Given the description of an element on the screen output the (x, y) to click on. 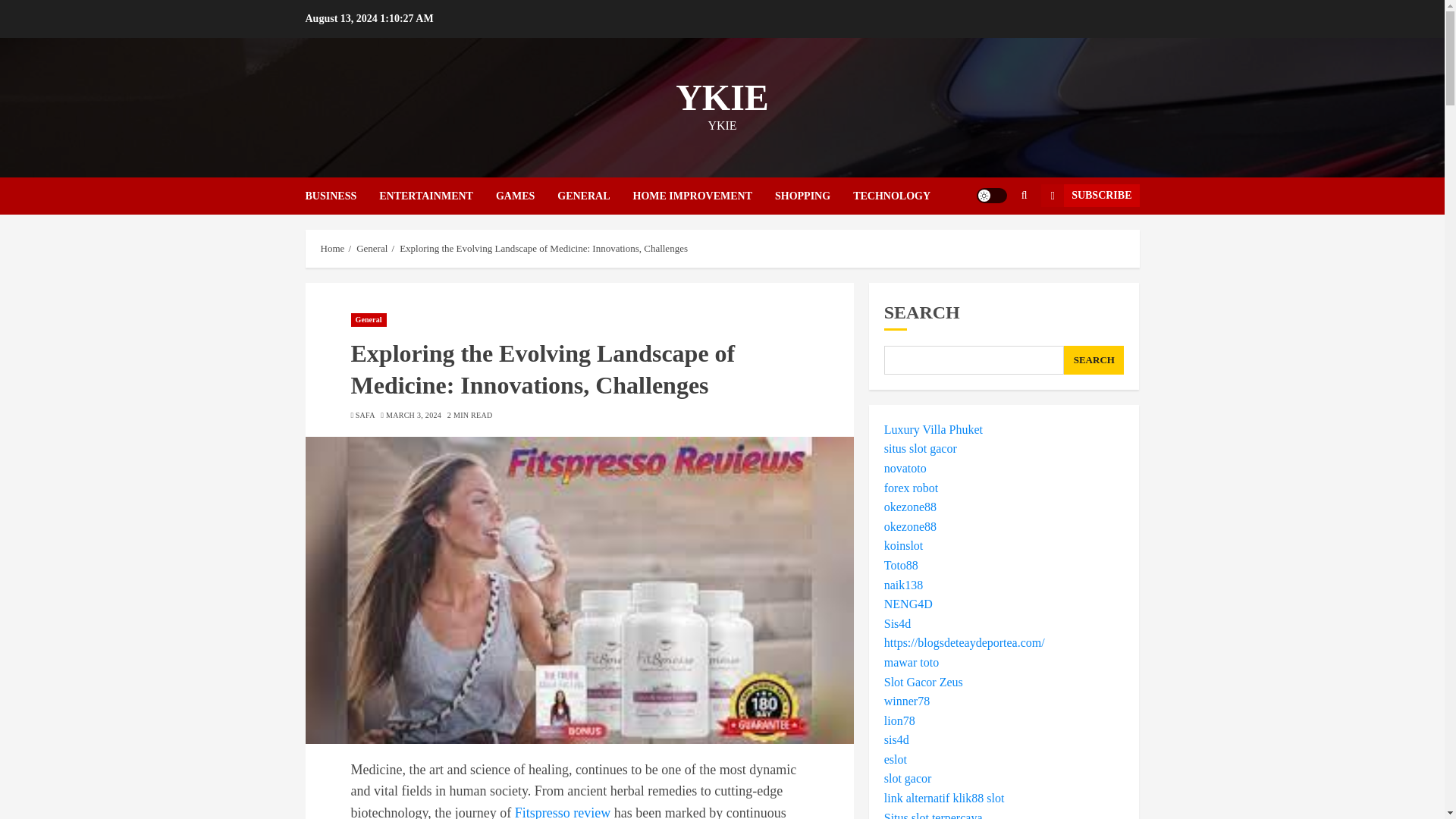
GENERAL (594, 195)
HOME IMPROVEMENT (702, 195)
SHOPPING (813, 195)
novatoto (904, 468)
koinslot (903, 545)
GAMES (526, 195)
okezone88 (909, 526)
SEARCH (1094, 359)
YKIE (721, 96)
forex robot (911, 487)
